Given the description of an element on the screen output the (x, y) to click on. 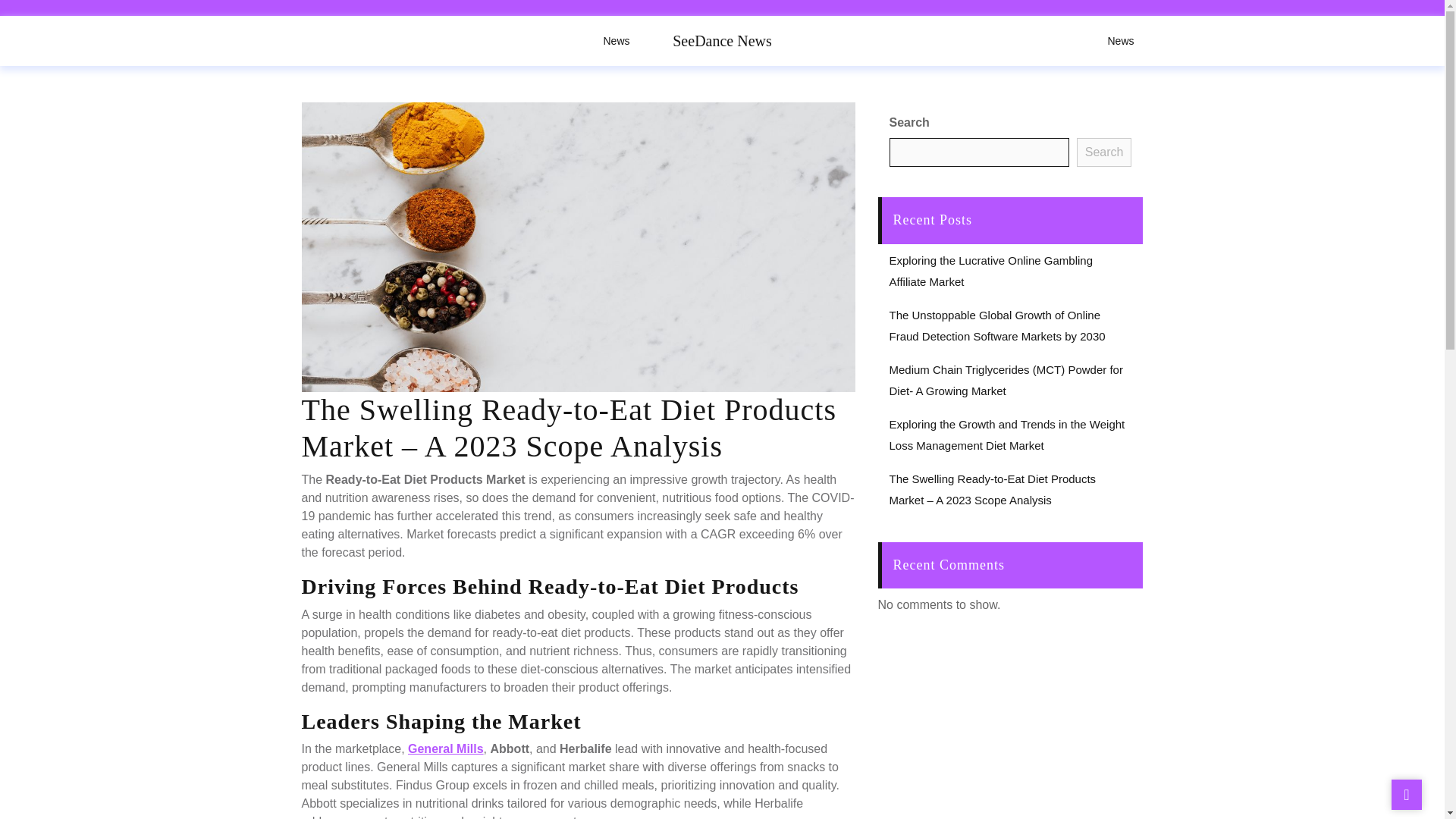
SeeDance News (721, 40)
News (616, 41)
General Mills (445, 748)
SeeDance News (721, 40)
Search (1104, 152)
News (1119, 41)
Exploring the Lucrative Online Gambling Affiliate Market (990, 271)
